Given the description of an element on the screen output the (x, y) to click on. 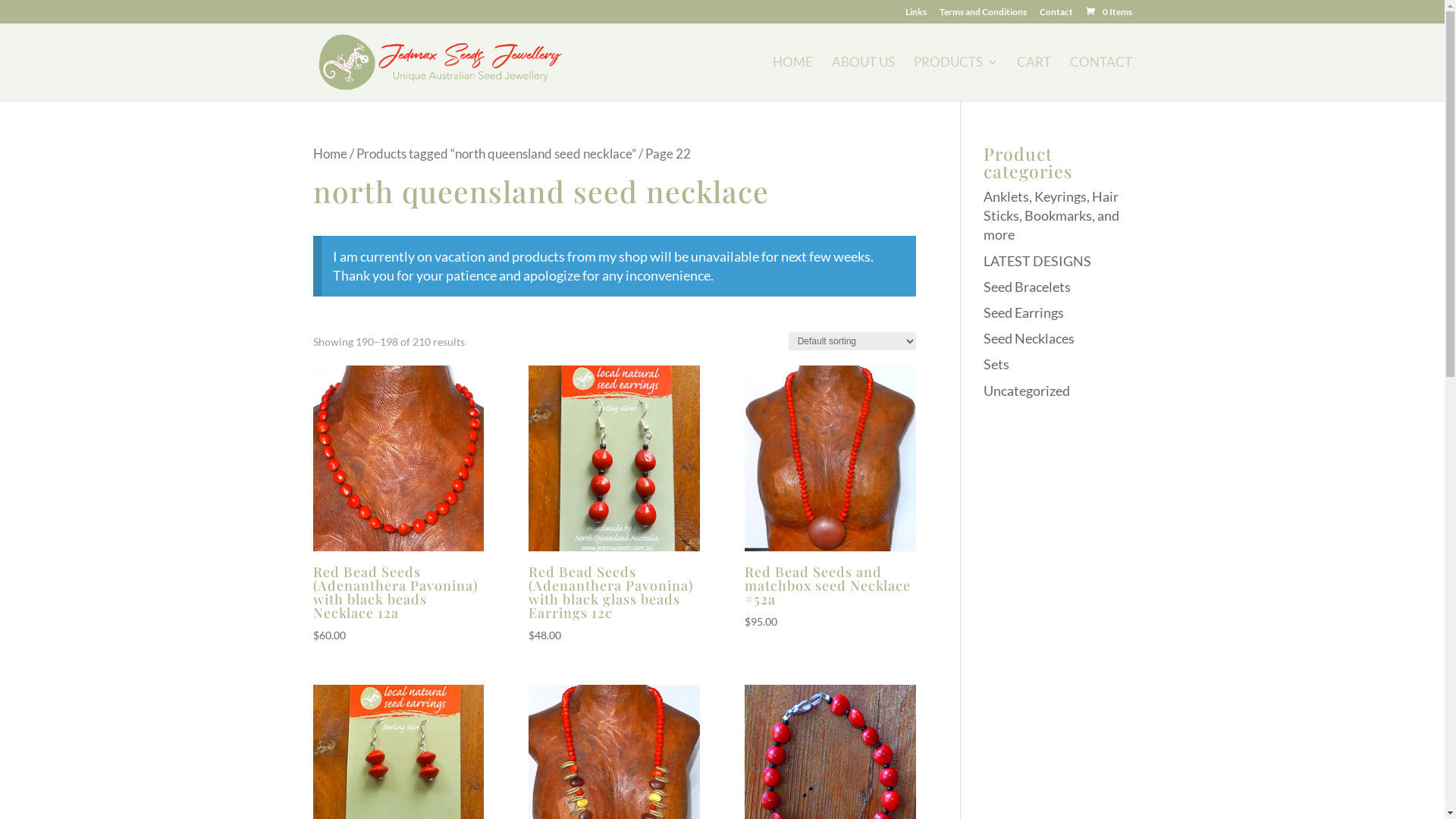
0 Items Element type: text (1108, 11)
Sets Element type: text (996, 363)
Red Bead Seeds and matchbox seed Necklace #52a
$95.00 Element type: text (829, 497)
PRODUCTS Element type: text (955, 78)
Contact Element type: text (1055, 15)
Links Element type: text (915, 15)
Terms and Conditions Element type: text (982, 15)
HOME Element type: text (791, 78)
Home Element type: text (329, 153)
ABOUT US Element type: text (862, 78)
Seed Bracelets Element type: text (1026, 286)
Uncategorized Element type: text (1026, 390)
CART Element type: text (1033, 78)
Anklets, Keyrings, Hair Sticks, Bookmarks, and more Element type: text (1051, 215)
CONTACT Element type: text (1100, 78)
Seed Necklaces Element type: text (1028, 337)
LATEST DESIGNS Element type: text (1037, 260)
Seed Earrings Element type: text (1023, 312)
